Given the description of an element on the screen output the (x, y) to click on. 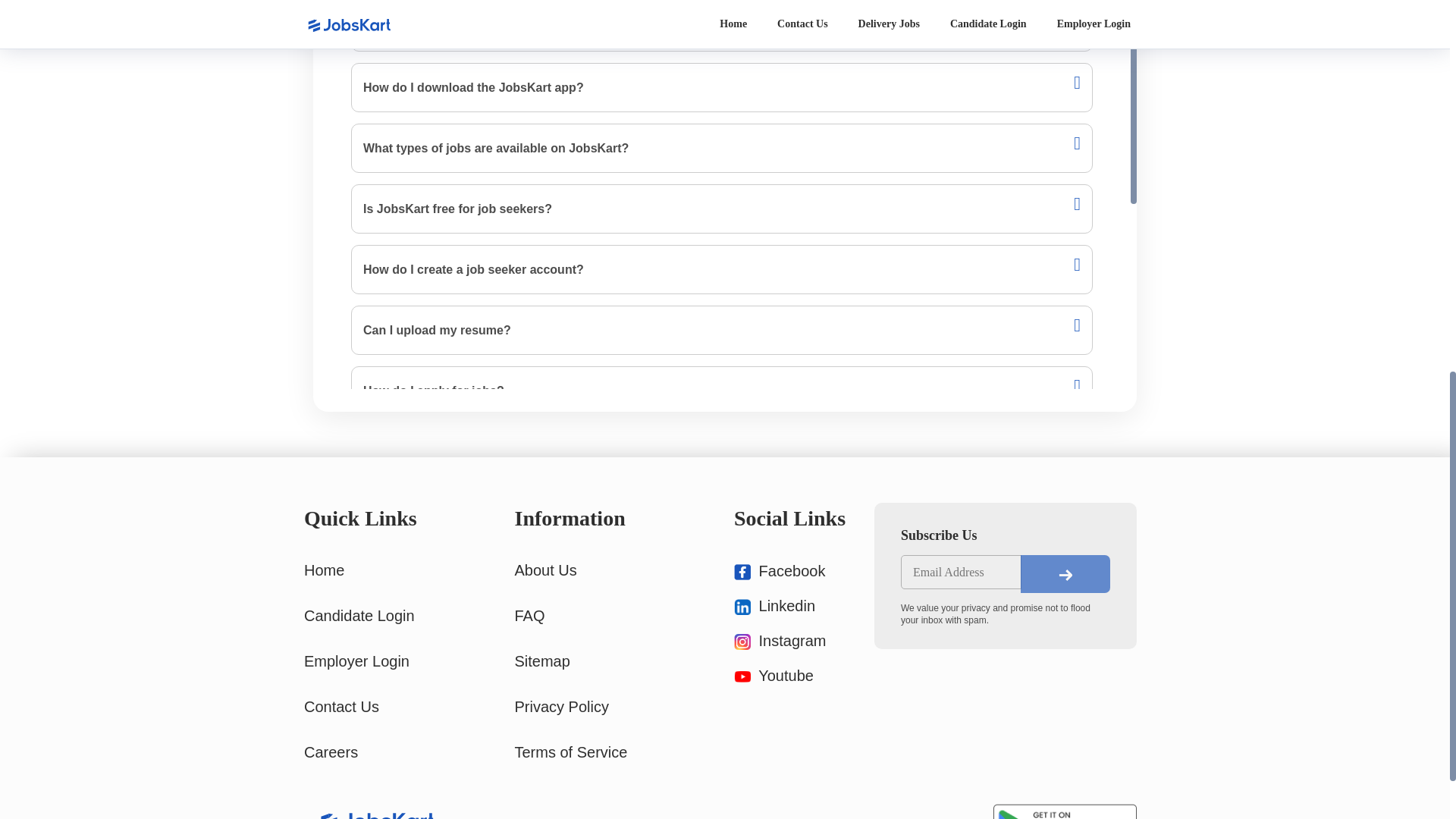
Why candidates are not coming for interviews? (722, 159)
Where to download Applicant's resume (722, 280)
Can I change my login number? (722, 705)
Can I log out from my account? (722, 523)
Is there any assurance of Job Responses on Free Plan? (722, 401)
How to use JobsKart to hire quickly and easily? (722, 584)
Can I delete my posted job? (722, 766)
Is bulk-hiring possible through JobsKart? (722, 644)
How to get high volume of candidates ? (722, 98)
